Given the description of an element on the screen output the (x, y) to click on. 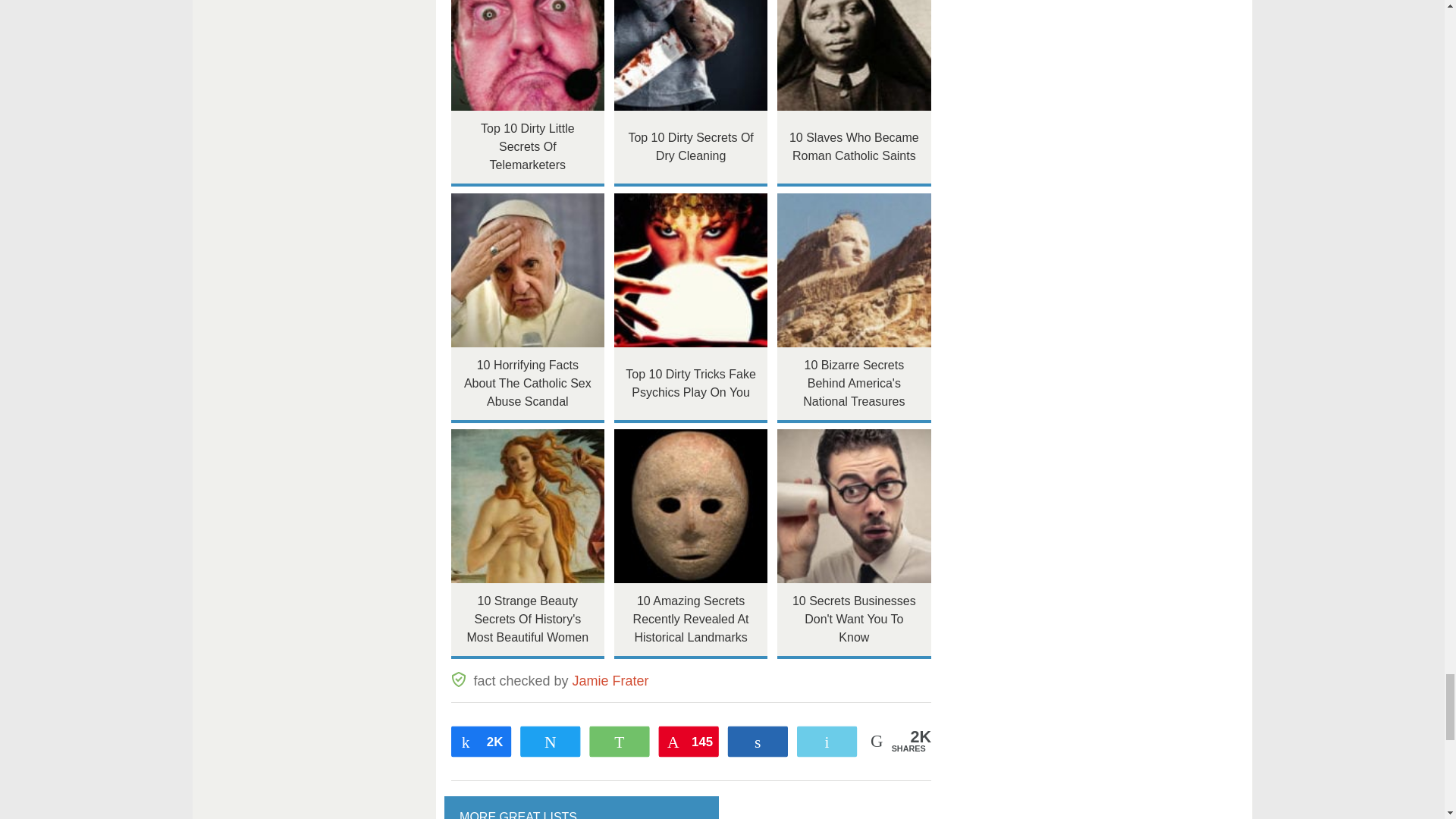
Top 10 Dirty Secrets Of Dry Cleaning (691, 55)
10 Slaves Who Became Roman Catholic Saints (854, 55)
Top 10 Dirty Little Secrets Of Telemarketers (526, 55)
